Given the description of an element on the screen output the (x, y) to click on. 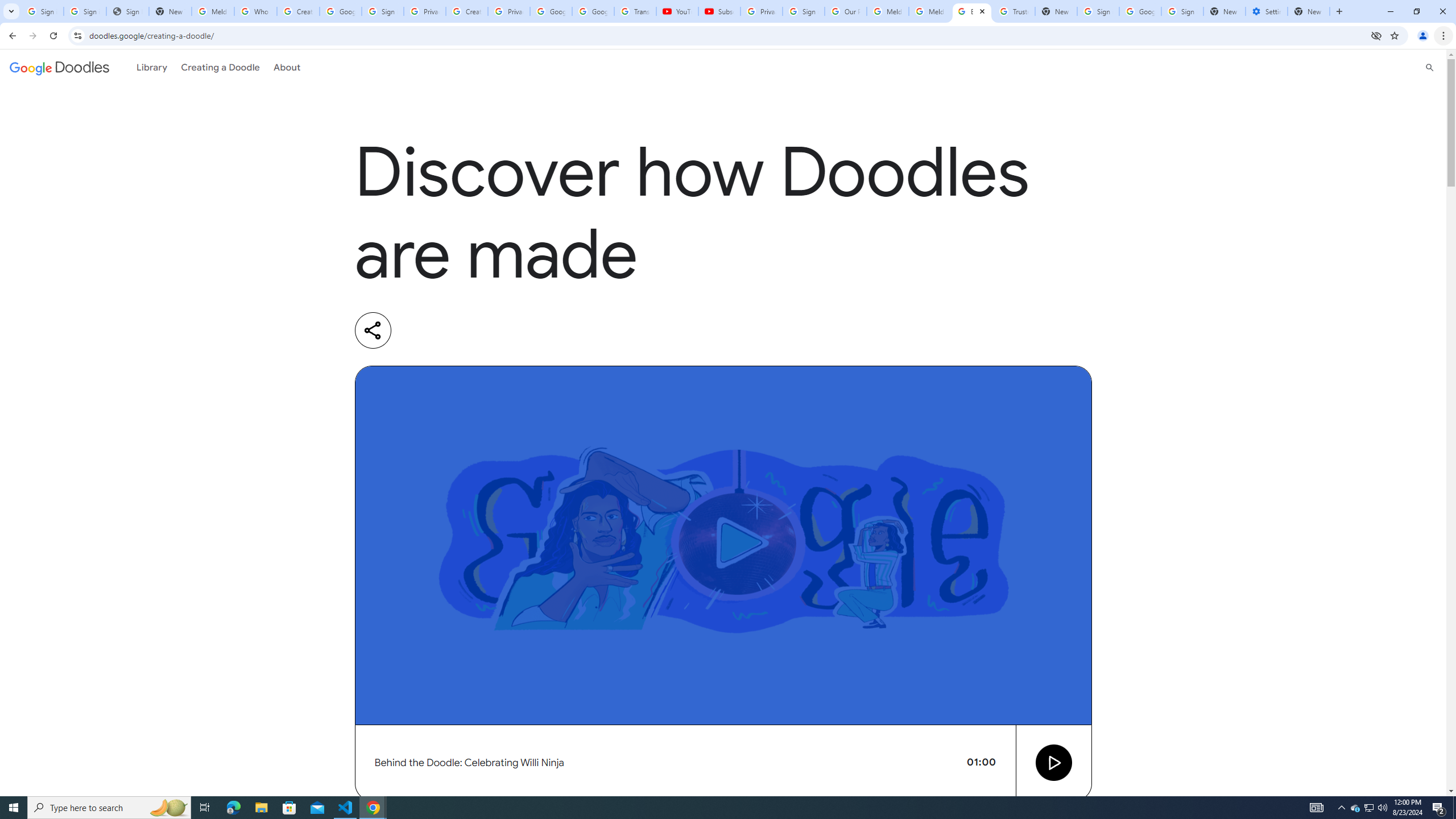
Sign in - Google Accounts (803, 11)
New Tab (1308, 11)
Who is my administrator? - Google Account Help (255, 11)
Search (1429, 67)
Share (372, 330)
